Given the description of an element on the screen output the (x, y) to click on. 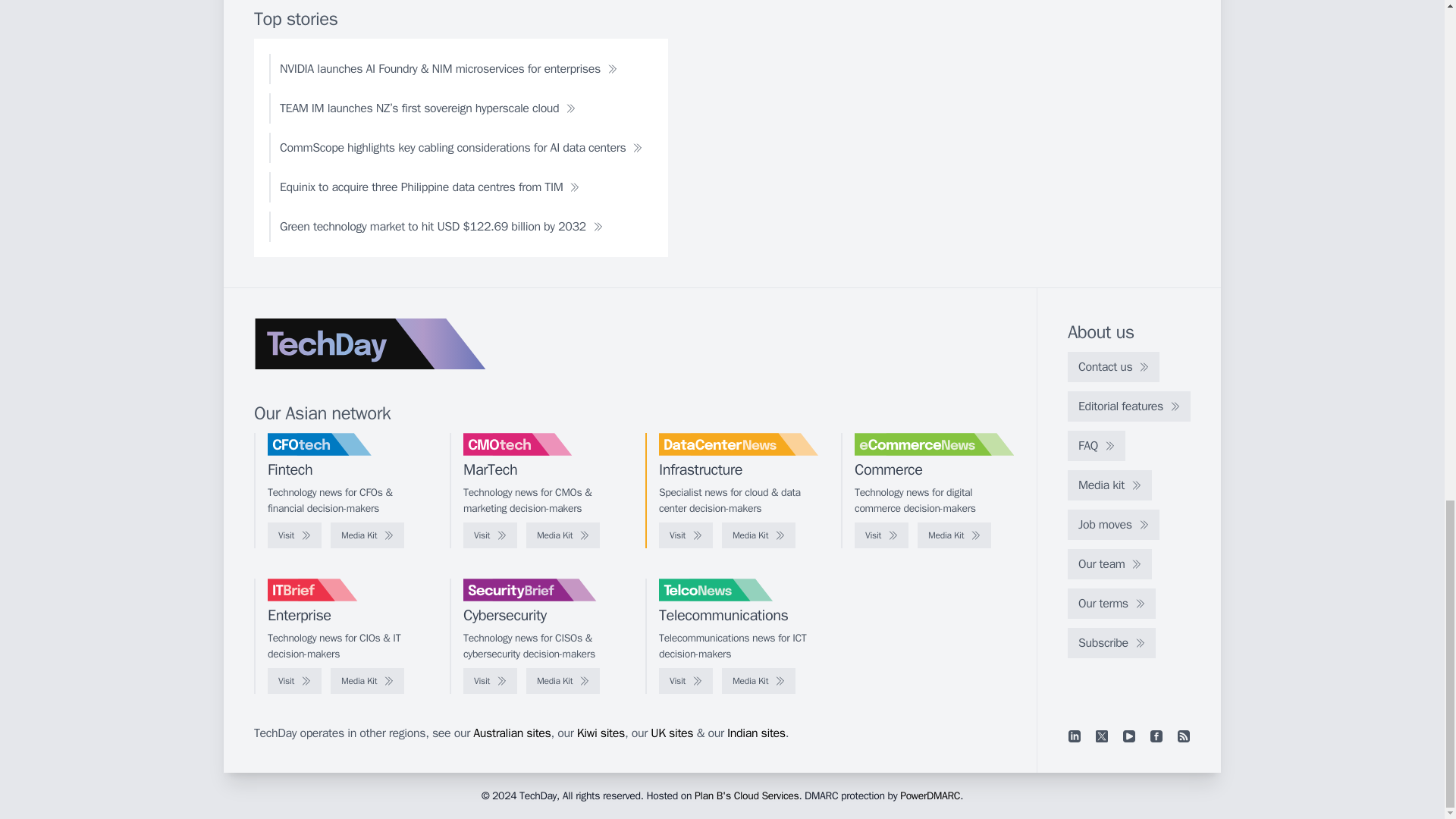
Media Kit (758, 534)
Media Kit (367, 534)
Visit (881, 534)
Media Kit (562, 534)
Visit (686, 534)
Equinix to acquire three Philippine data centres from TIM (429, 186)
Visit (294, 534)
Visit (489, 534)
Media Kit (954, 534)
